Given the description of an element on the screen output the (x, y) to click on. 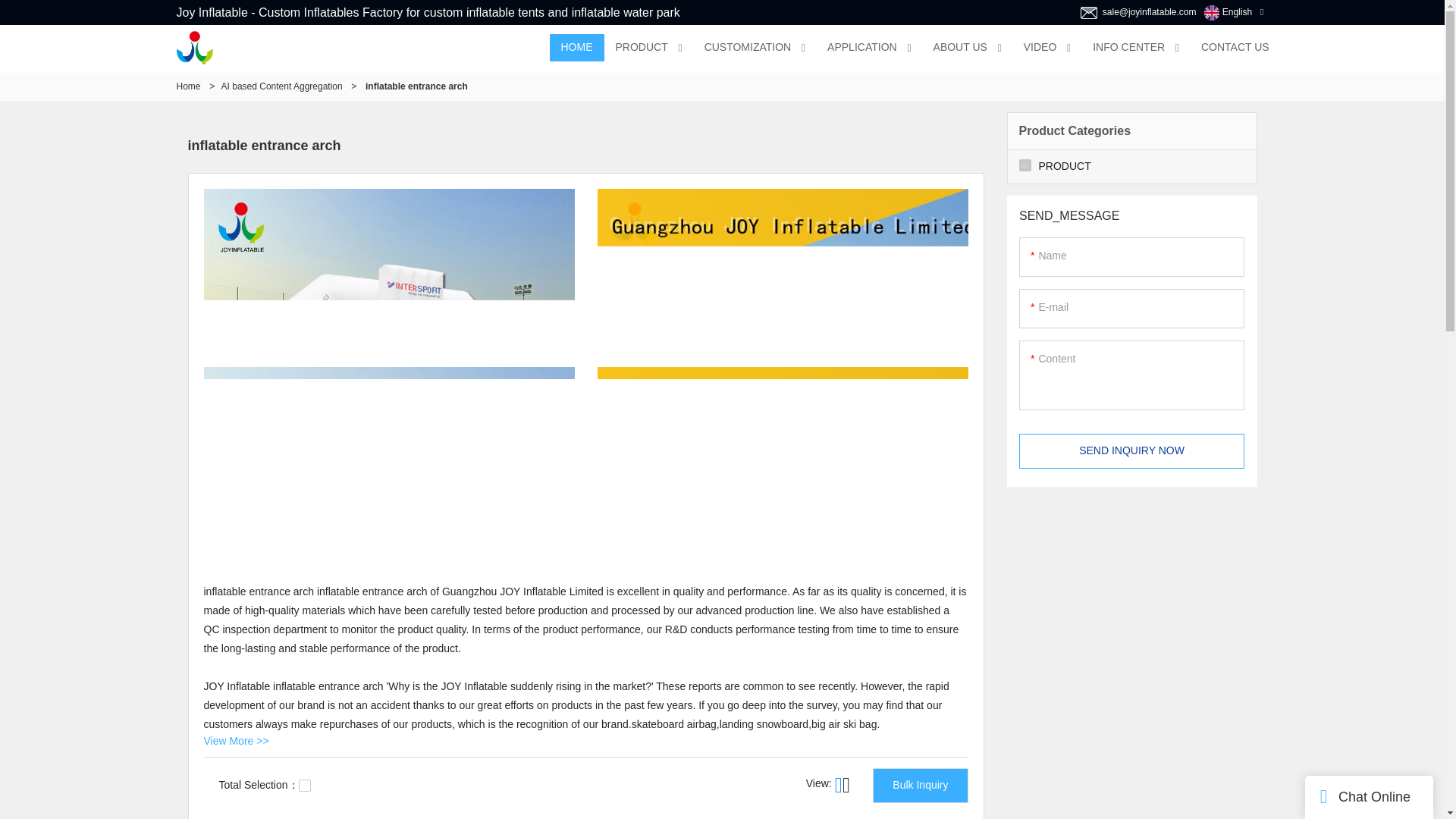
CUSTOMIZATION (748, 47)
ABOUT US (959, 47)
on (304, 785)
APPLICATION (861, 47)
PRODUCT (641, 47)
HOME (576, 47)
